Given the description of an element on the screen output the (x, y) to click on. 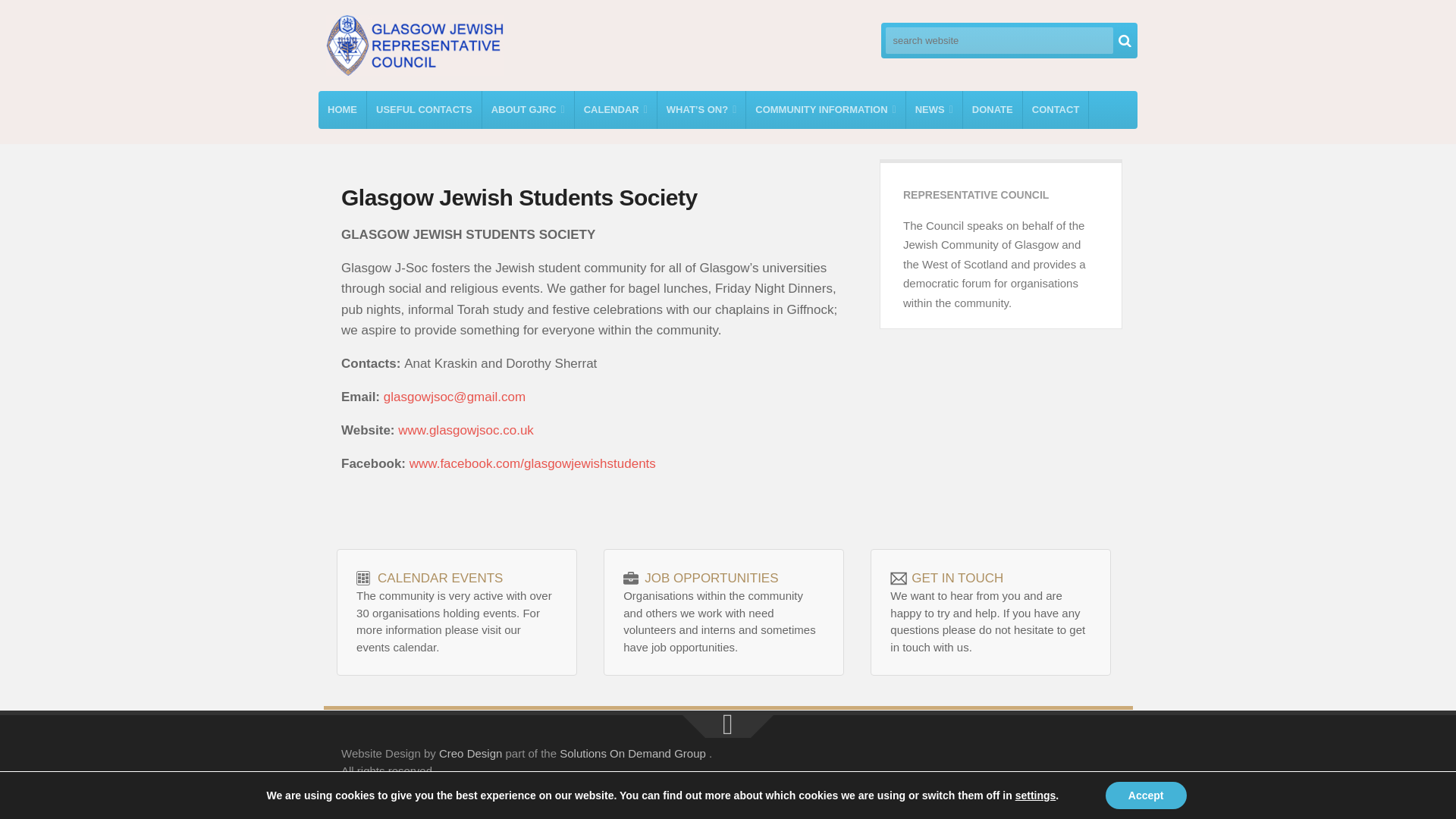
Solutions On Demand Group (632, 753)
GET IN TOUCH (957, 577)
JOB OPPORTUNITIES (711, 577)
Creo Design (470, 753)
settings (1035, 795)
CALENDAR EVENTS (439, 577)
www.glasgowjsoc.co.uk (465, 430)
Accept (1145, 795)
COMMUNITY INFORMATION (824, 109)
DONATE (992, 109)
USEFUL CONTACTS (423, 109)
HOME (342, 109)
CONTACT (1056, 109)
CALENDAR (615, 109)
ABOUT GJRC (527, 109)
